Given the description of an element on the screen output the (x, y) to click on. 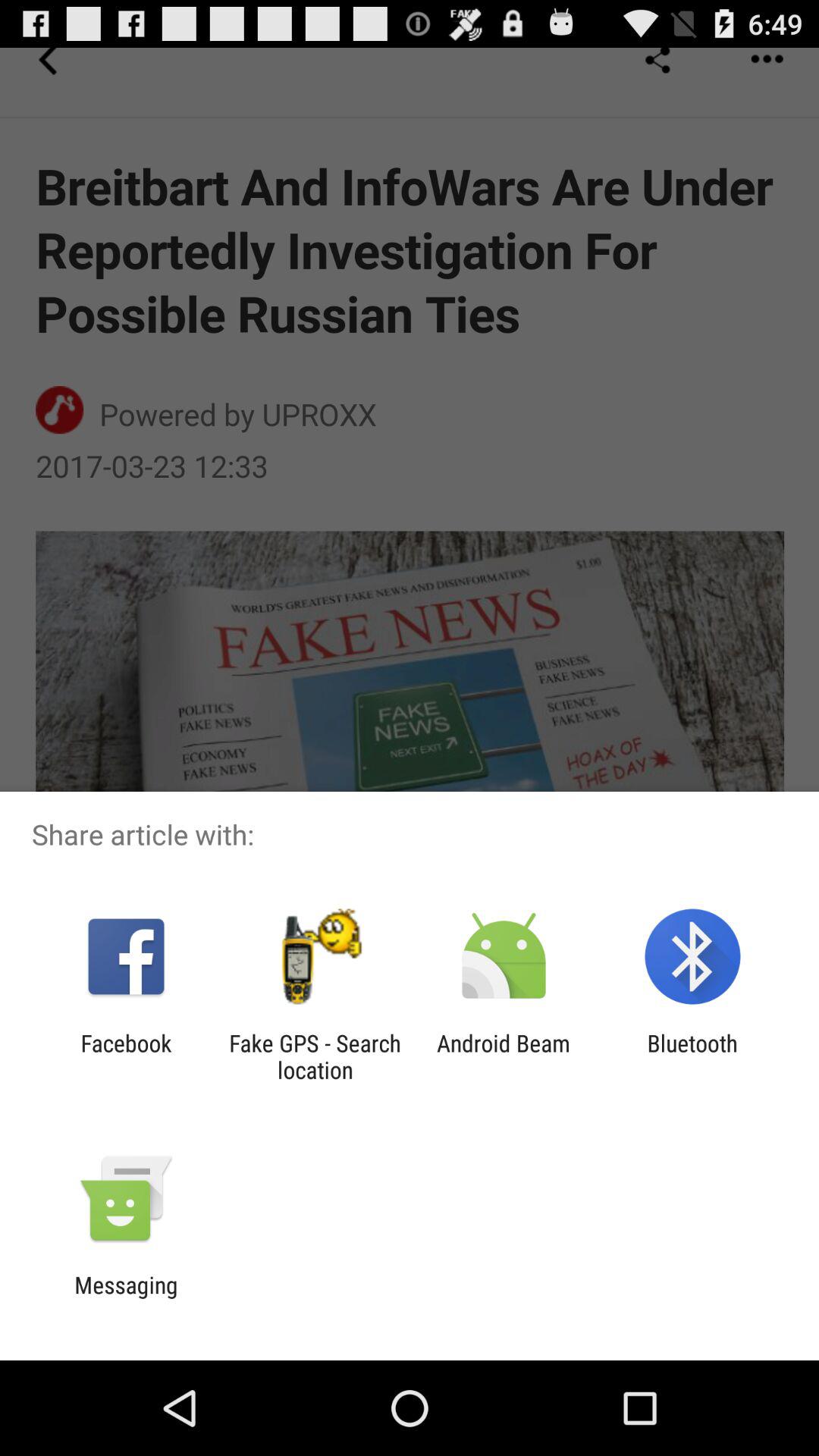
turn off icon at the bottom right corner (692, 1056)
